Given the description of an element on the screen output the (x, y) to click on. 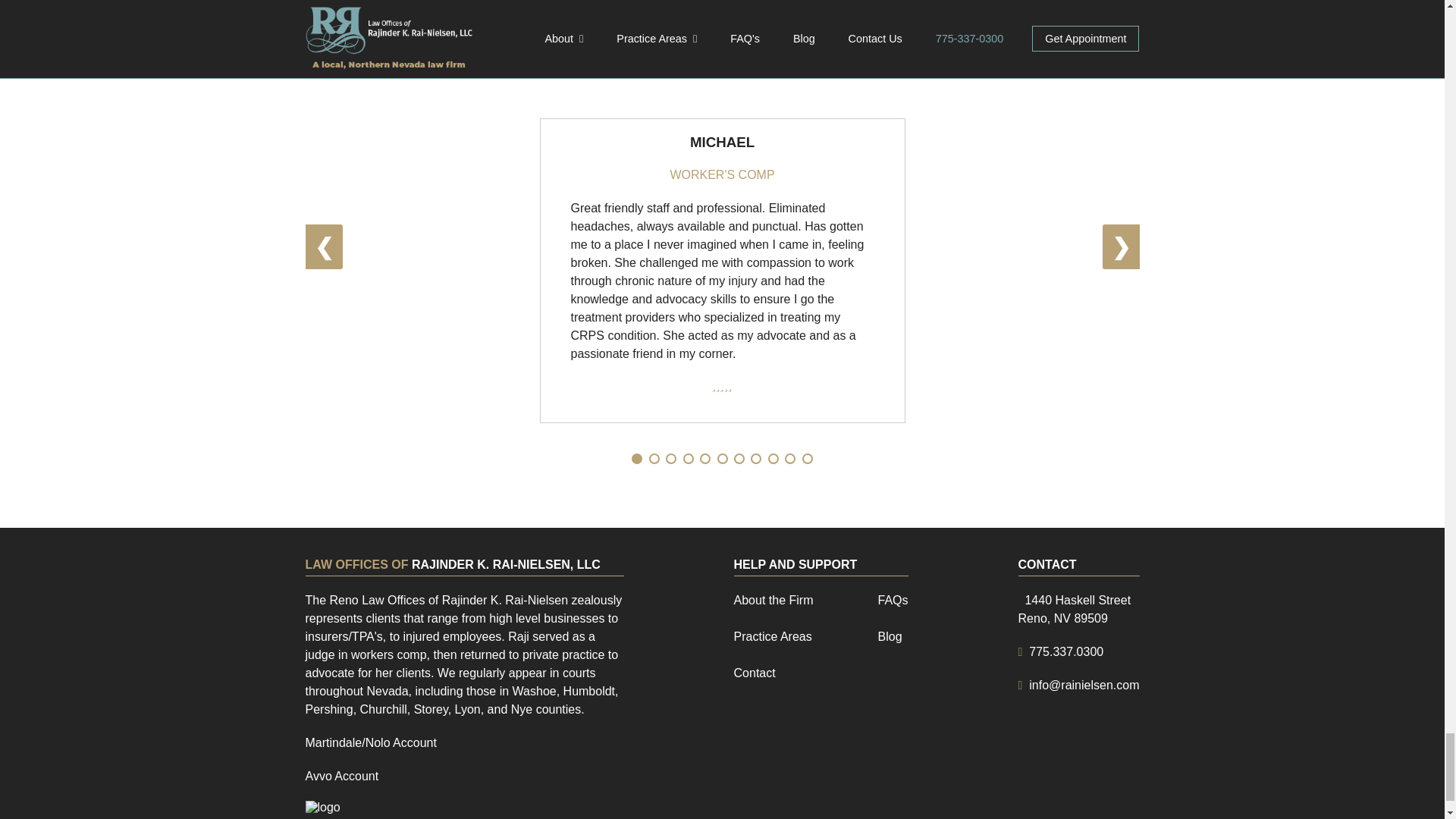
Blog (889, 636)
Contact (1074, 609)
About the Firm (754, 673)
Avvo Account (773, 600)
Practice Areas (341, 775)
FAQs (772, 636)
